Given the description of an element on the screen output the (x, y) to click on. 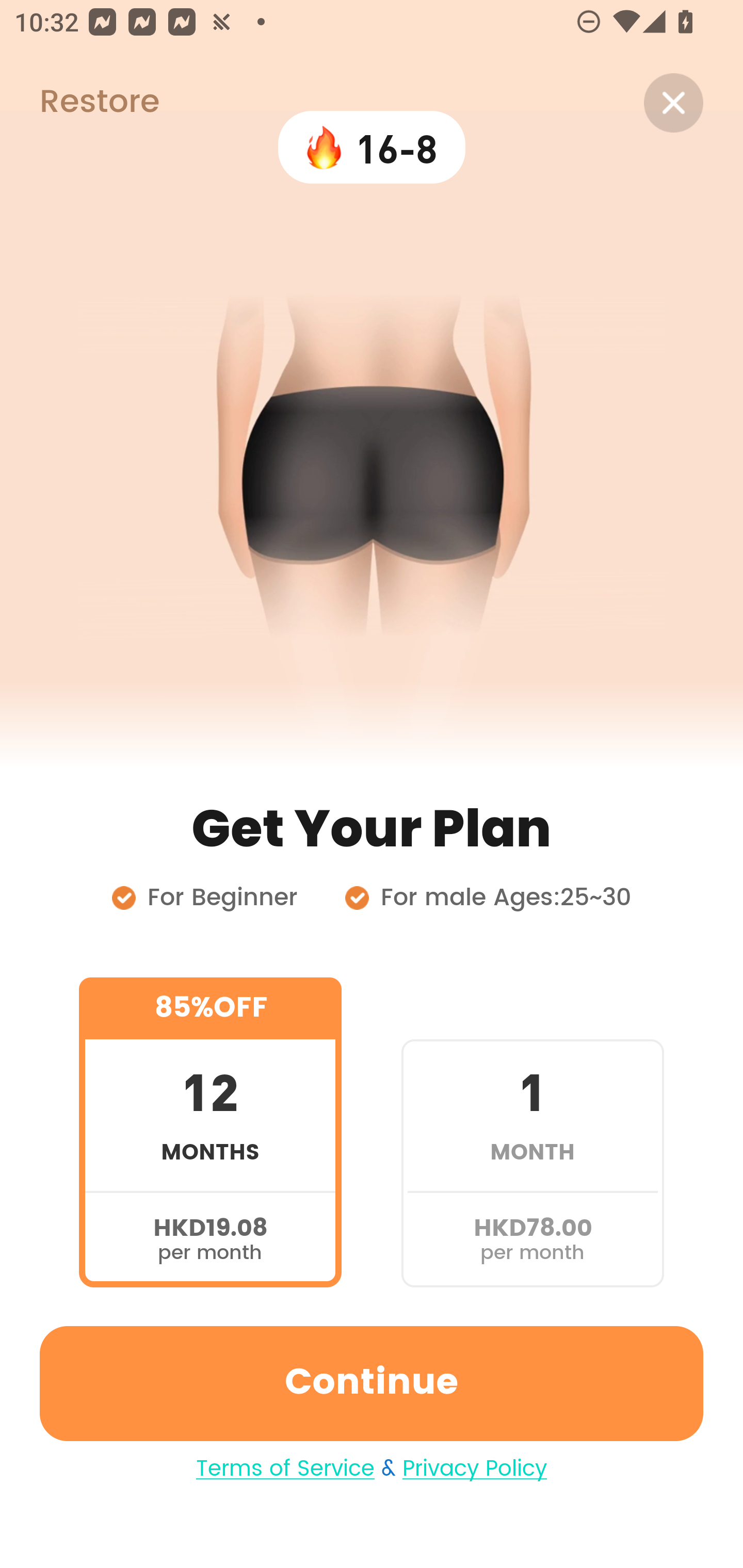
Restore (79, 102)
85%OFF 12 MONTHS per month HKD19.08 (209, 1131)
1 MONTH per month HKD78.00 (532, 1131)
Continue (371, 1383)
